Given the description of an element on the screen output the (x, y) to click on. 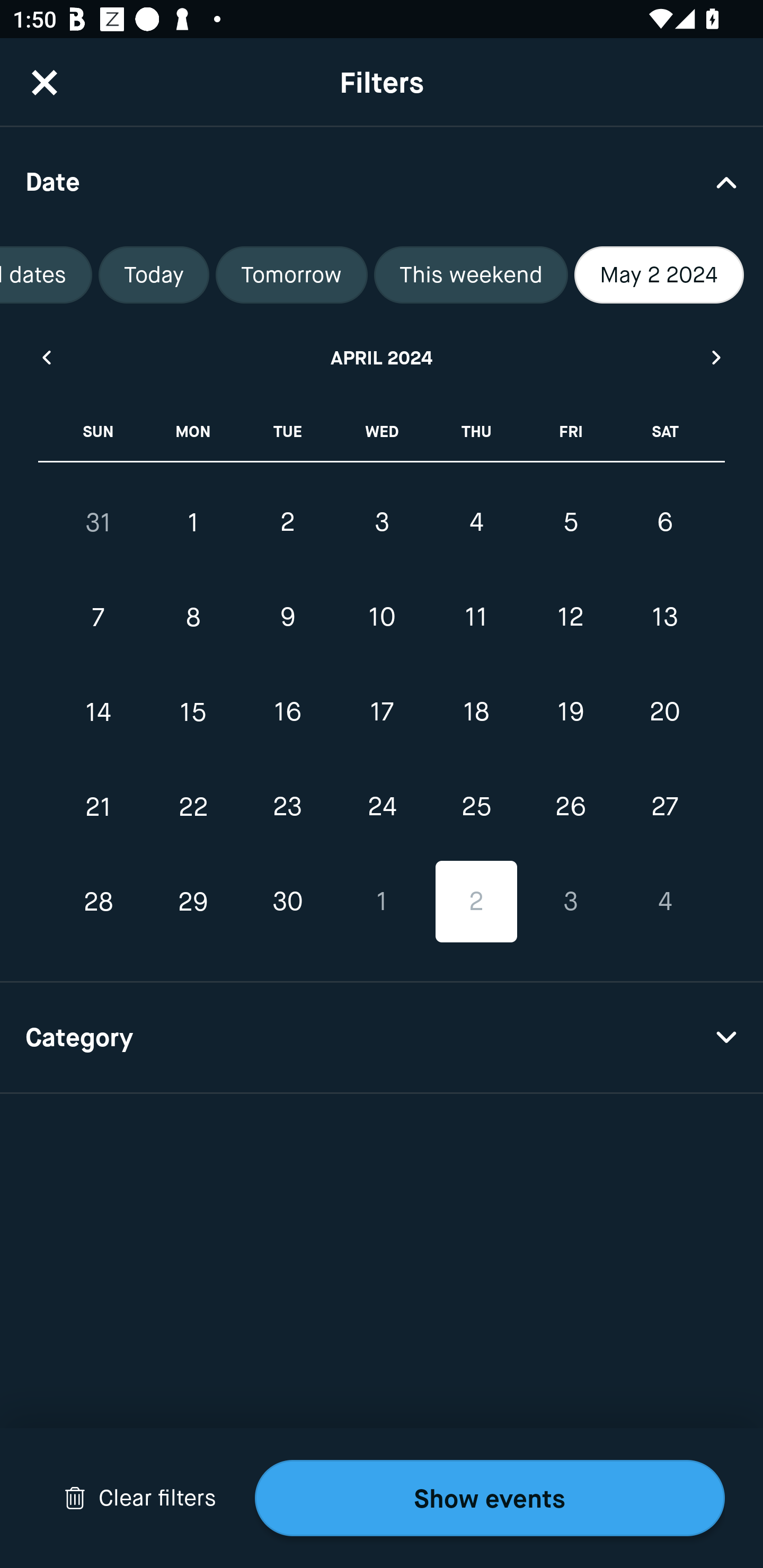
CloseButton (44, 82)
Date Drop Down Arrow (381, 181)
Today (153, 274)
Tomorrow (291, 274)
This weekend (470, 274)
May 2 2024 (658, 274)
Previous (45, 357)
Next (717, 357)
31 (98, 522)
1 (192, 522)
2 (287, 522)
3 (381, 522)
4 (475, 522)
5 (570, 522)
6 (664, 522)
7 (98, 617)
8 (192, 617)
9 (287, 617)
10 (381, 617)
11 (475, 617)
12 (570, 617)
13 (664, 617)
14 (98, 711)
15 (192, 711)
16 (287, 711)
17 (381, 711)
18 (475, 711)
19 (570, 711)
20 (664, 711)
21 (98, 806)
22 (192, 806)
23 (287, 806)
24 (381, 806)
25 (475, 806)
26 (570, 806)
27 (664, 806)
28 (98, 901)
29 (192, 901)
30 (287, 901)
1 (381, 901)
2 (475, 901)
3 (570, 901)
4 (664, 901)
Category Drop Down Arrow (381, 1038)
Drop Down Arrow Clear filters (139, 1497)
Show events (489, 1497)
